Given the description of an element on the screen output the (x, y) to click on. 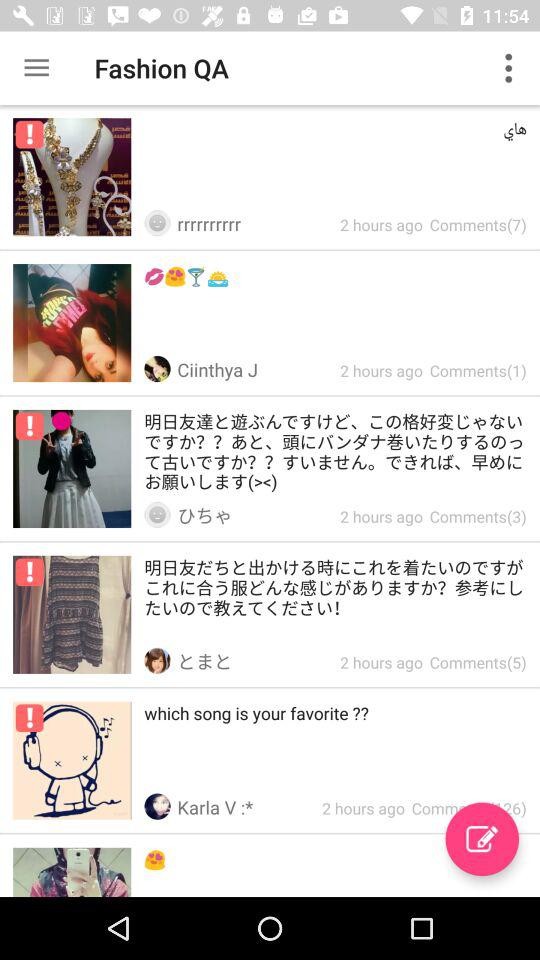
add new post (482, 839)
